Given the description of an element on the screen output the (x, y) to click on. 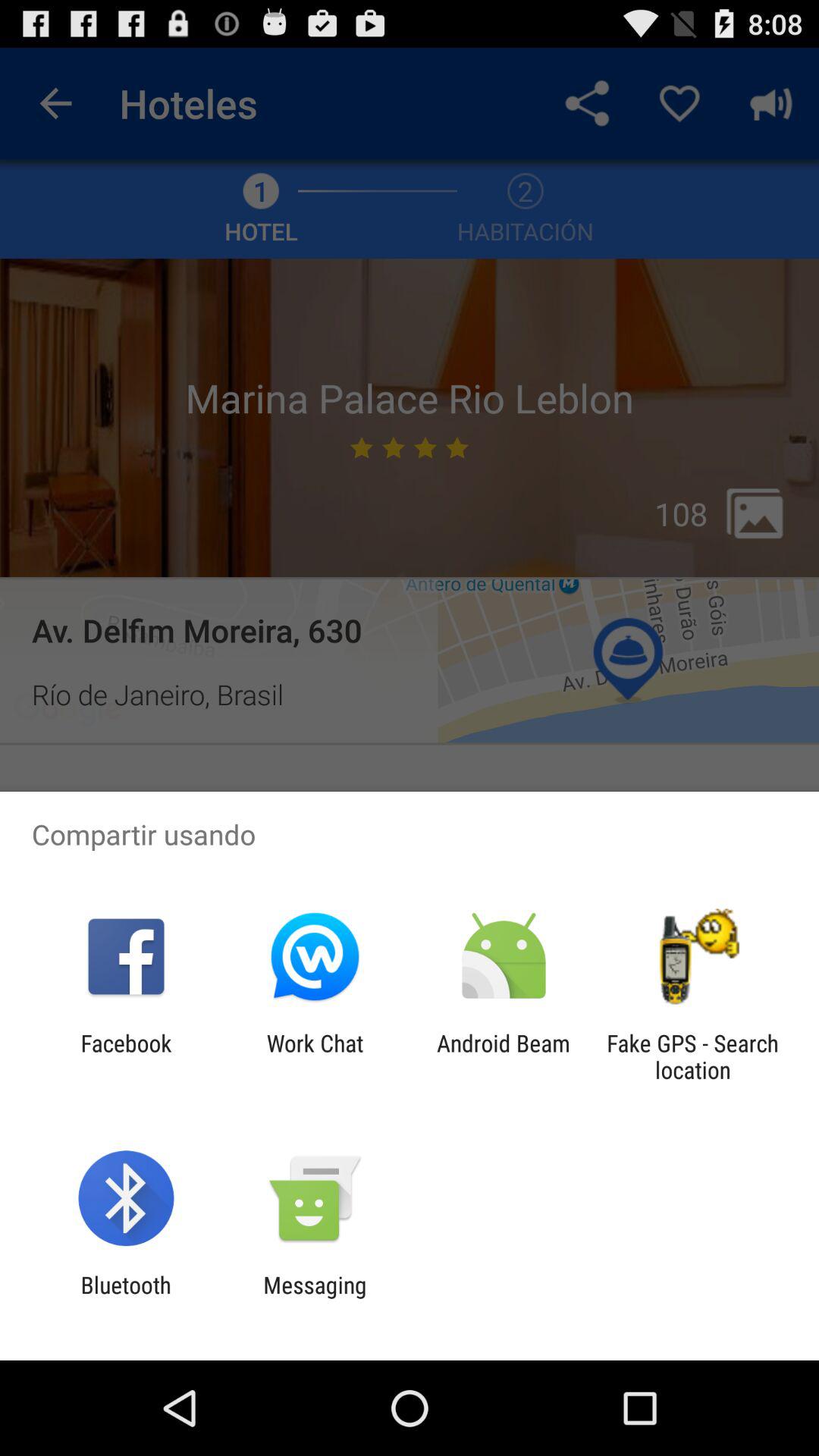
click the icon to the right of work chat icon (503, 1056)
